Given the description of an element on the screen output the (x, y) to click on. 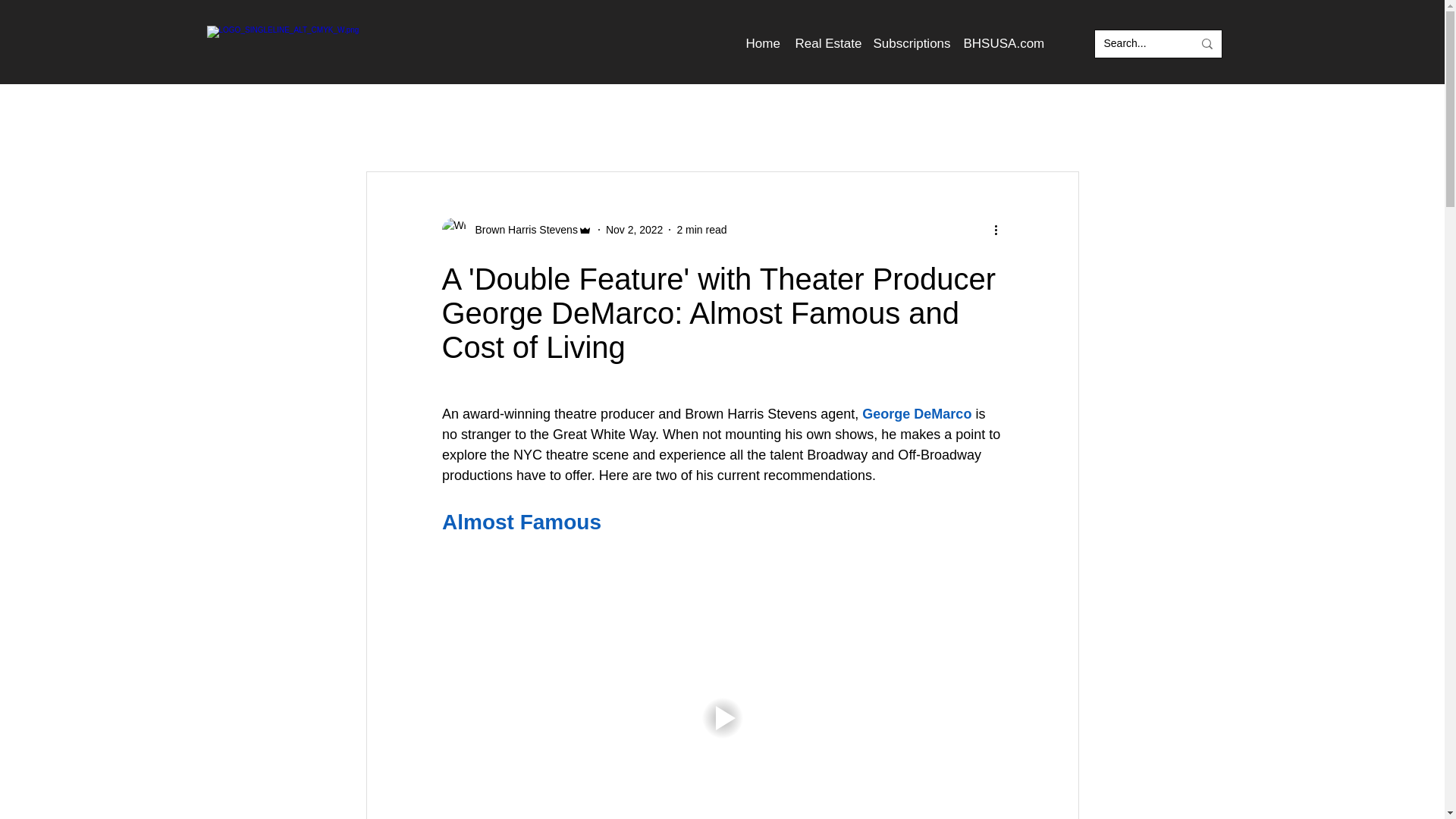
Home (762, 43)
Brown Harris Stevens (516, 229)
Real Estate (825, 43)
Nov 2, 2022 (634, 228)
BHSUSA.com (1000, 43)
Almost Famous (520, 521)
2 min read (701, 228)
Subscriptions (911, 43)
Brown Harris Stevens (520, 229)
George DeMarco (916, 413)
